Given the description of an element on the screen output the (x, y) to click on. 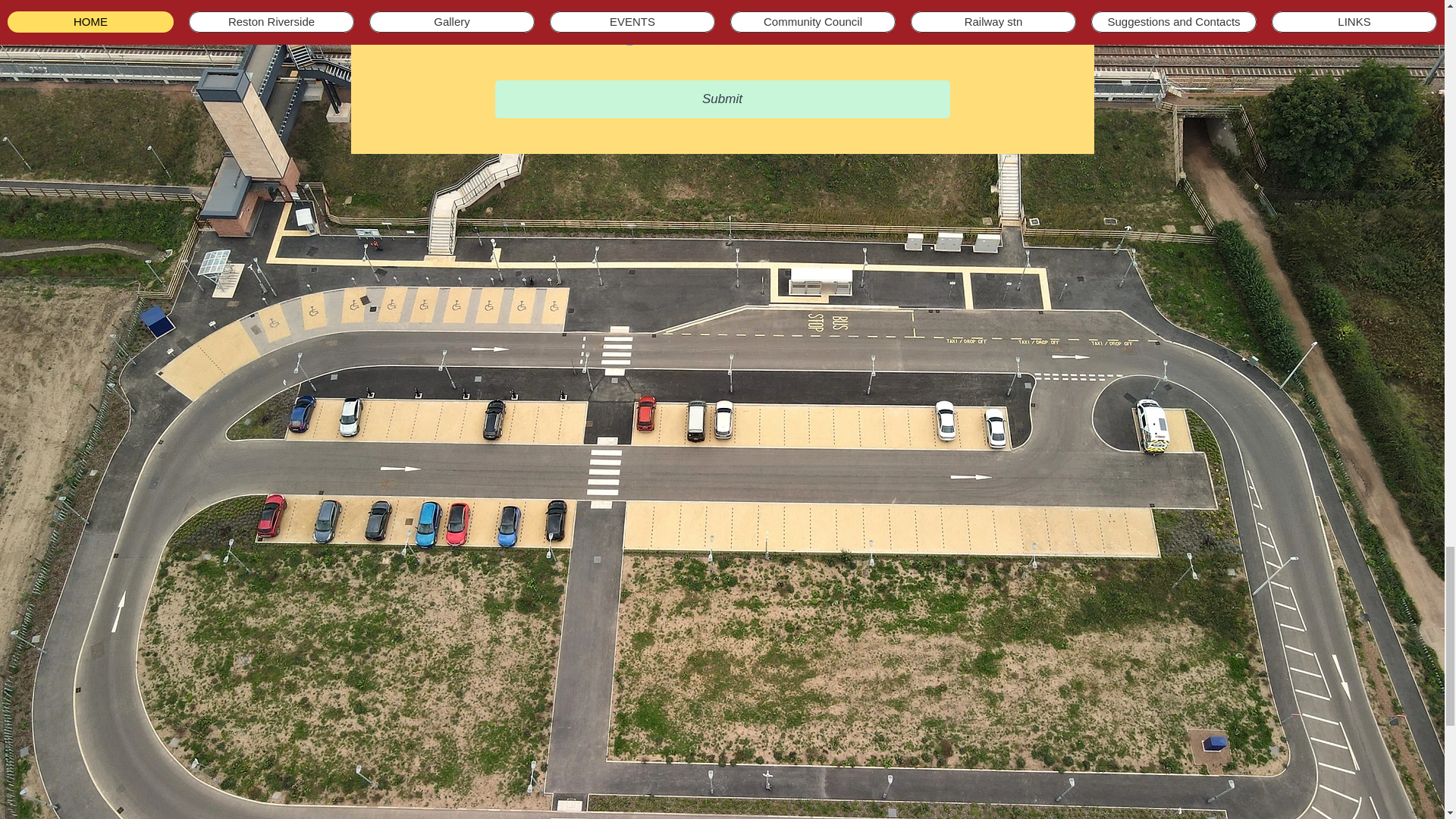
Submit (722, 98)
